Given the description of an element on the screen output the (x, y) to click on. 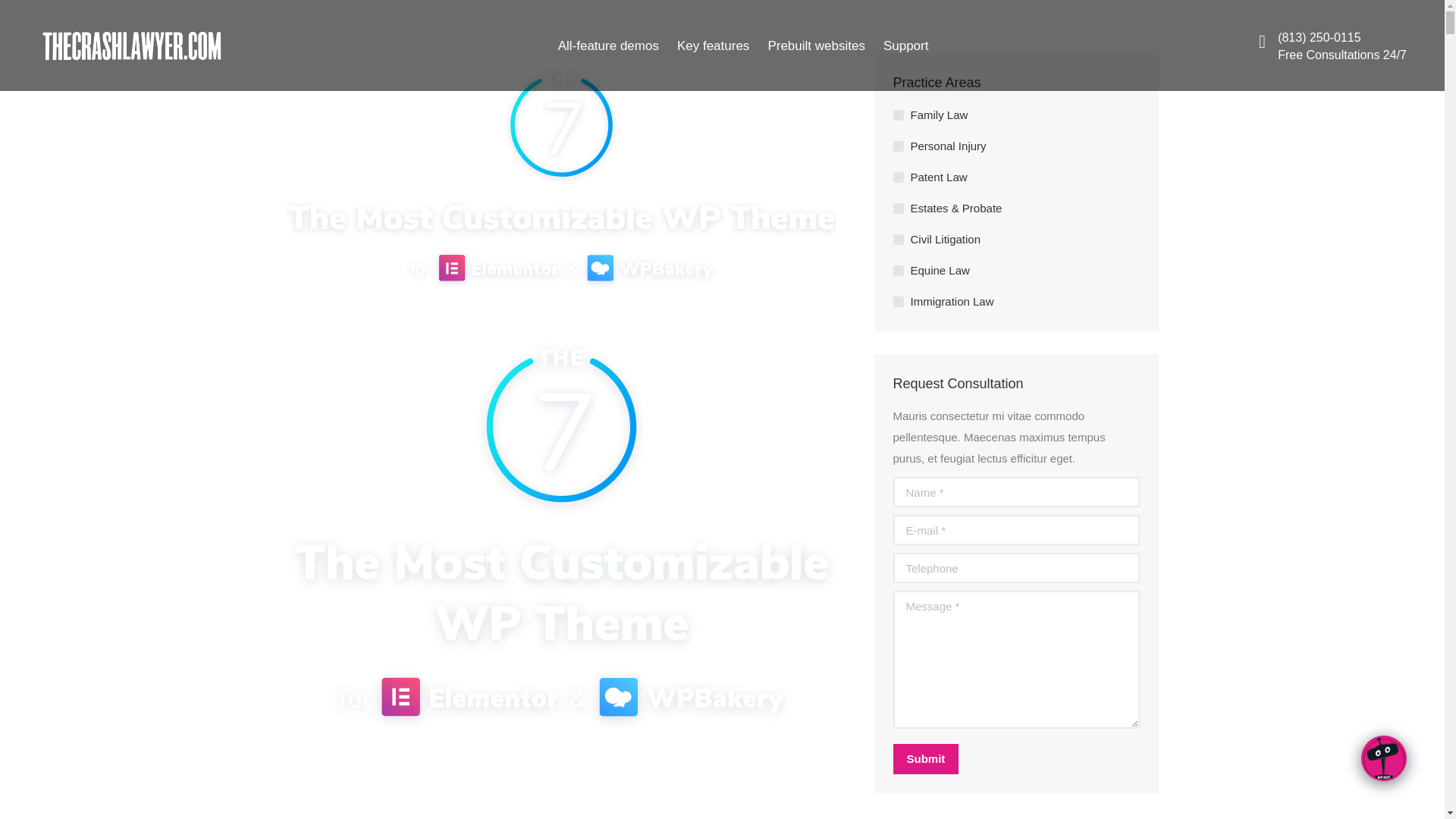
Support (906, 44)
Key features (712, 44)
submit (999, 760)
All-feature demos (608, 44)
Prebuilt websites (815, 44)
